Given the description of an element on the screen output the (x, y) to click on. 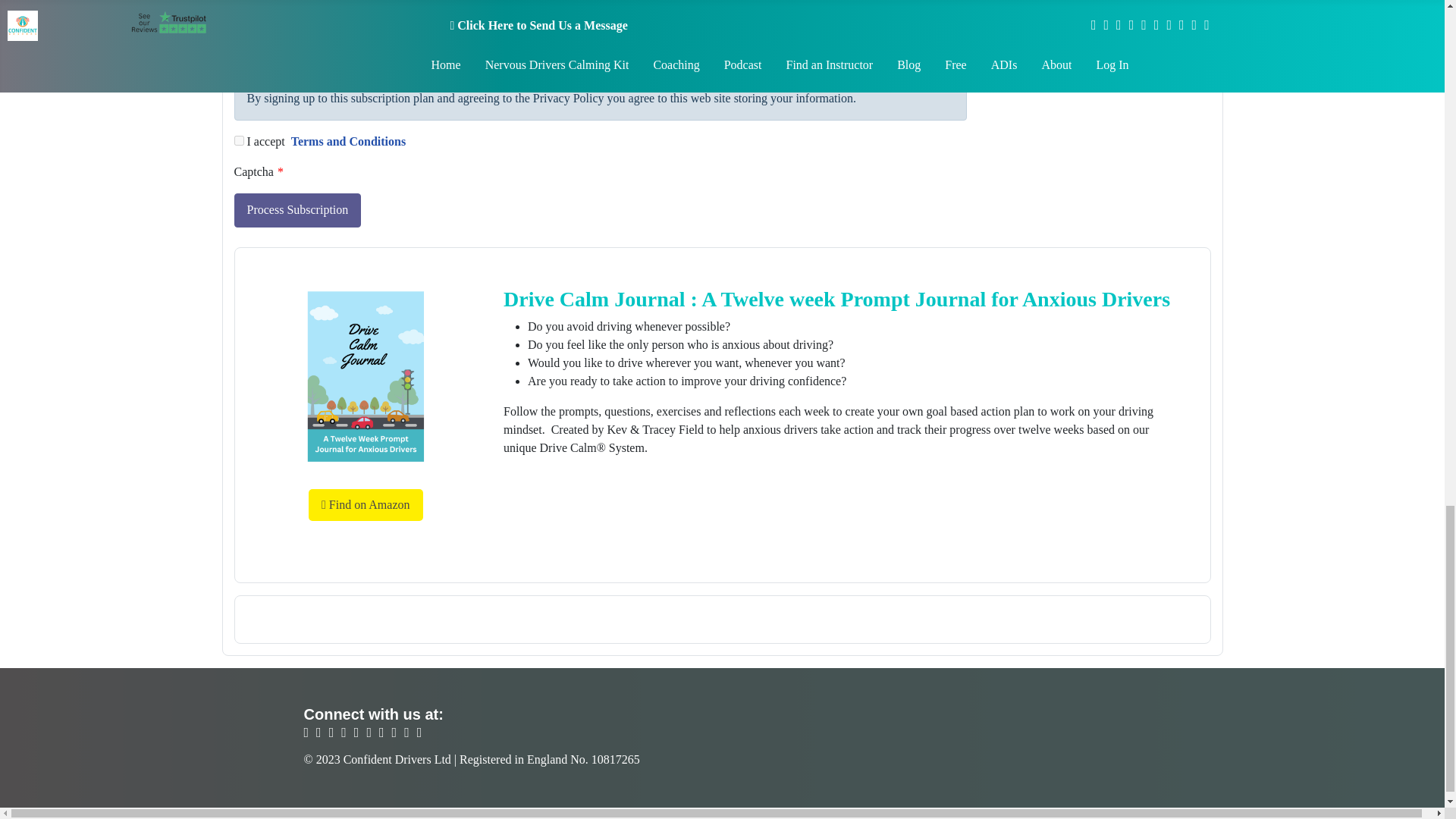
1 (237, 62)
1 (237, 140)
Process Subscription (296, 210)
